Given the description of an element on the screen output the (x, y) to click on. 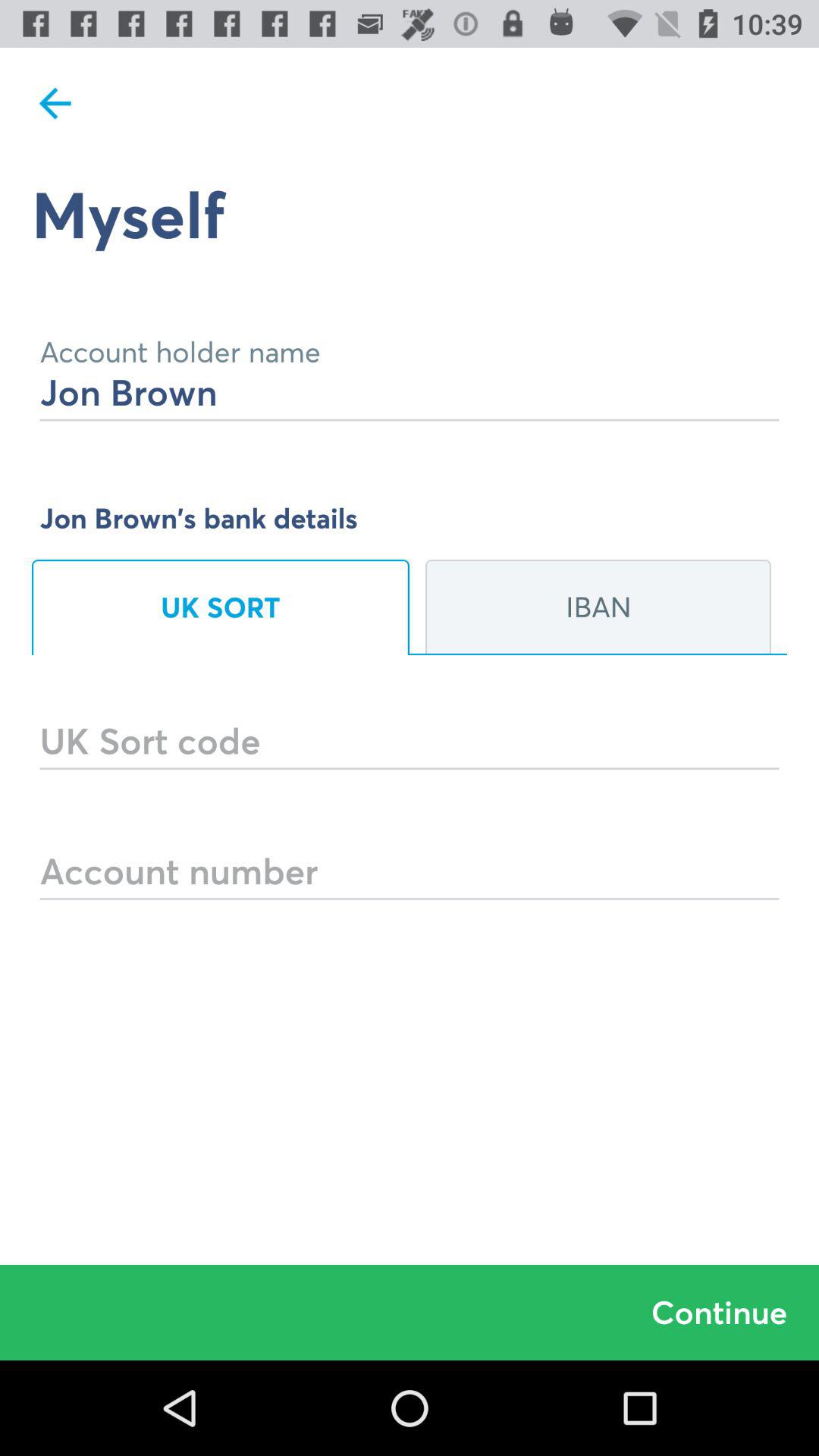
press item to the left of iban (220, 607)
